Given the description of an element on the screen output the (x, y) to click on. 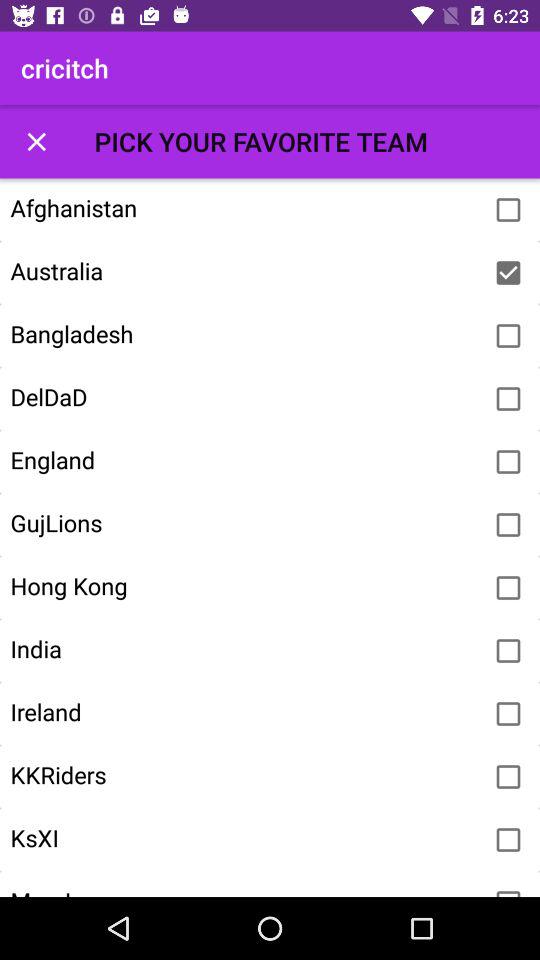
select country (508, 210)
